Given the description of an element on the screen output the (x, y) to click on. 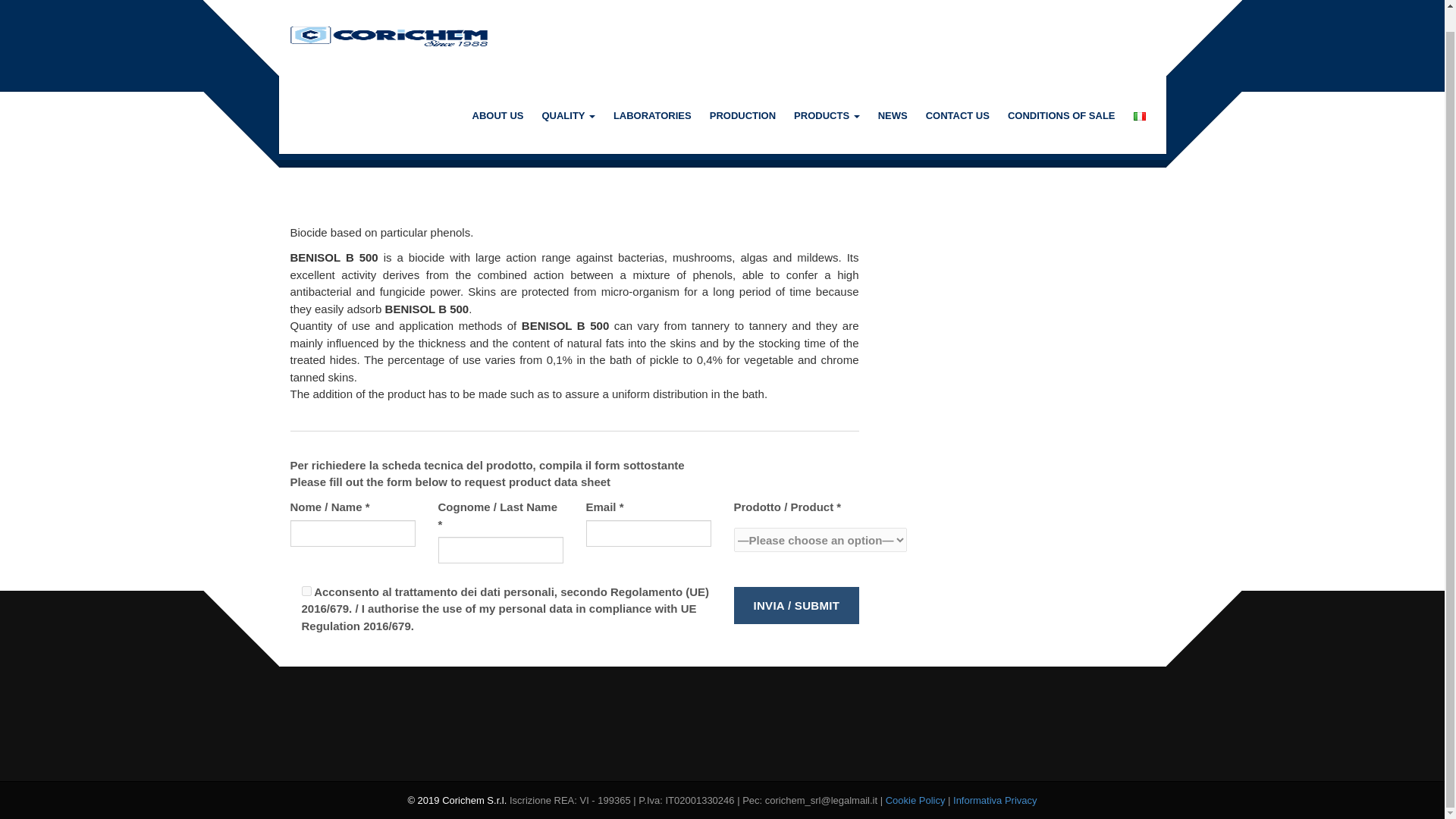
NEWS (893, 93)
QUALITY (568, 93)
LABORATORIES (652, 93)
ABOUT US (497, 93)
CONDITIONS OF SALE (1061, 93)
CONDITIONS OF SALE (1061, 93)
PRODUCTION (742, 93)
QUALITY (568, 93)
NEWS (893, 93)
CONTACT US (957, 93)
